Given the description of an element on the screen output the (x, y) to click on. 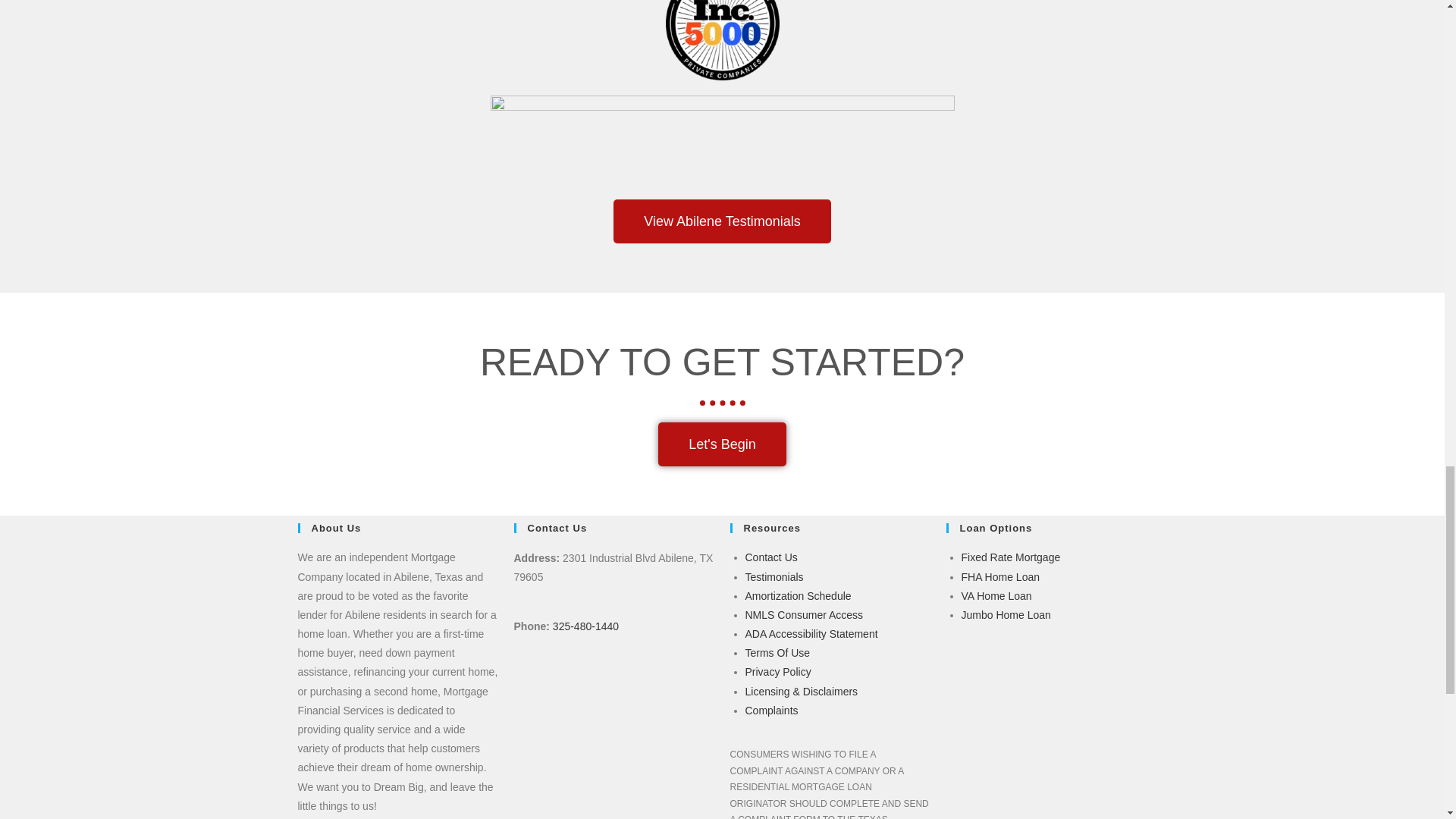
FHA Home Loan (1000, 576)
Mortgage Calculator (797, 595)
Fixed Rate Mortgage (1010, 557)
ADA Accessibility Statement (810, 633)
NMLS Consumer Access (803, 614)
Jumbo Home Loan (1005, 614)
VA Home Loan (996, 595)
Contact Us (770, 557)
Testimonials (773, 576)
